Given the description of an element on the screen output the (x, y) to click on. 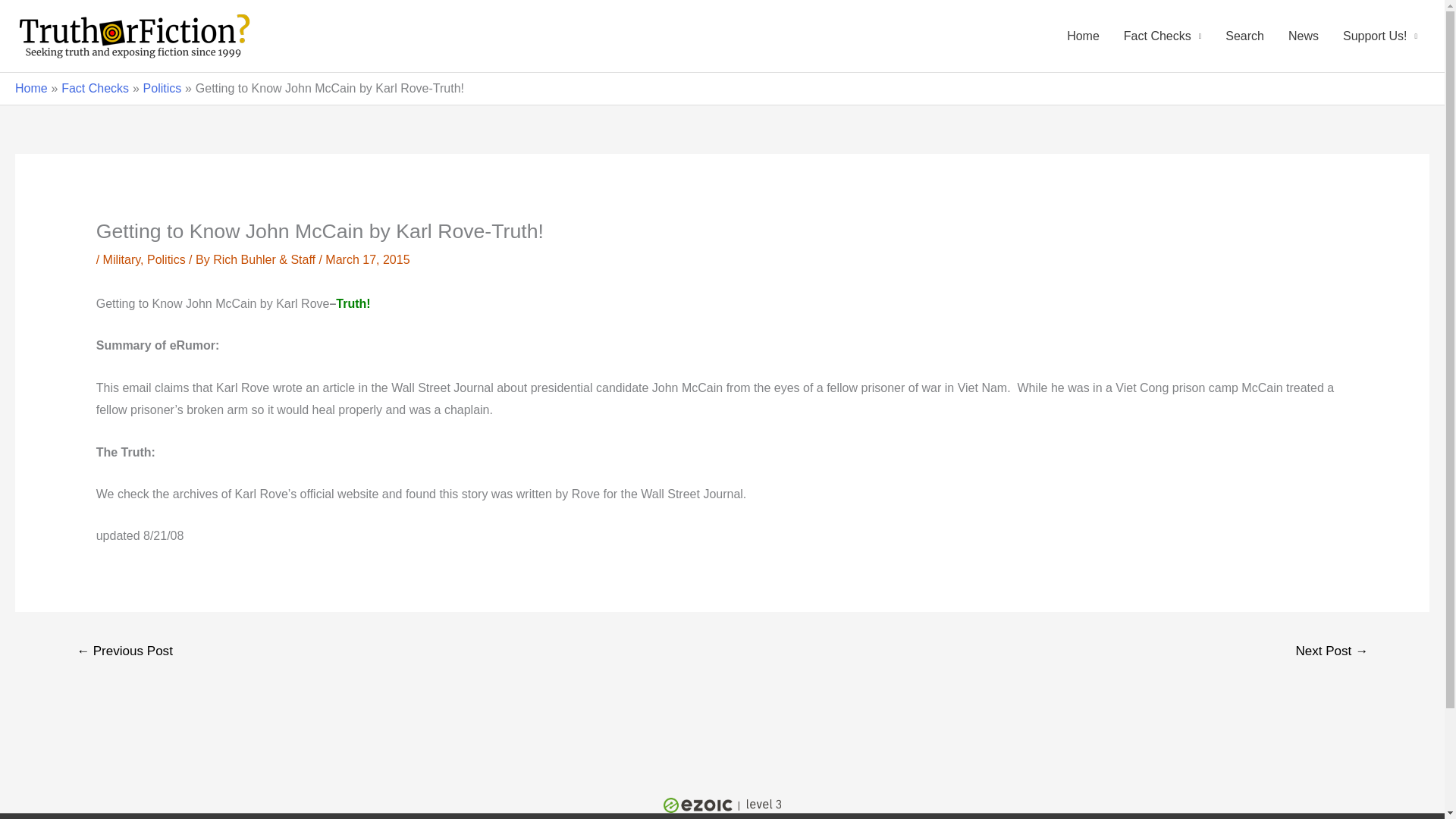
Support Us! (1379, 36)
Fact Checks (1162, 36)
Home (31, 88)
Fact Checks (95, 88)
Military (121, 259)
Politics (162, 88)
Politics (166, 259)
